Given the description of an element on the screen output the (x, y) to click on. 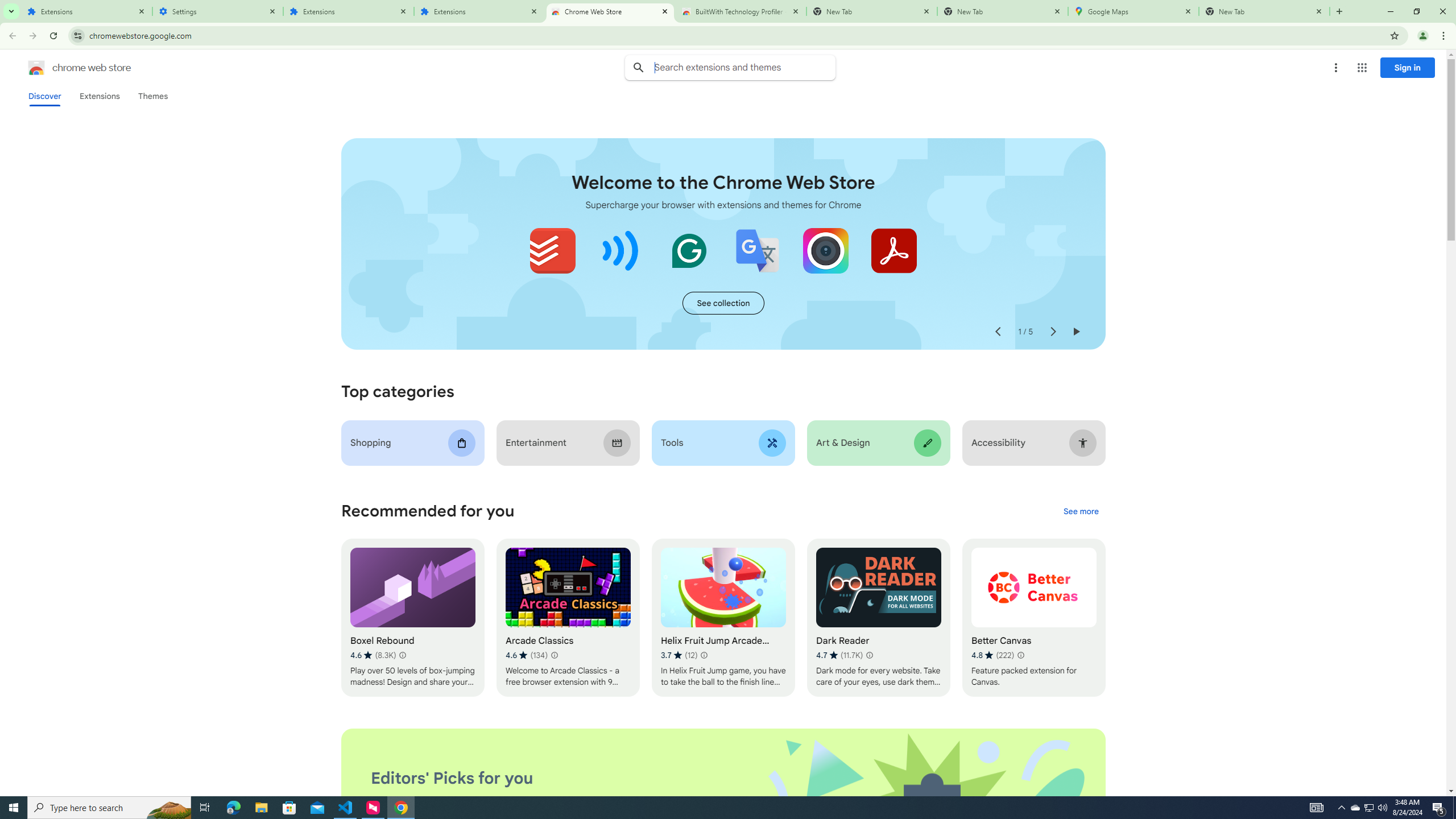
Dark Reader (878, 617)
Settings (217, 11)
Chrome Web Store logo chrome web store (67, 67)
Search input (744, 67)
Extensions (348, 11)
Learn more about results and reviews "Arcade Classics" (553, 655)
Learn more about results and reviews "Better Canvas" (1019, 655)
Entertainment (567, 443)
See more of the "Extensions starter kit" collection (722, 303)
